Given the description of an element on the screen output the (x, y) to click on. 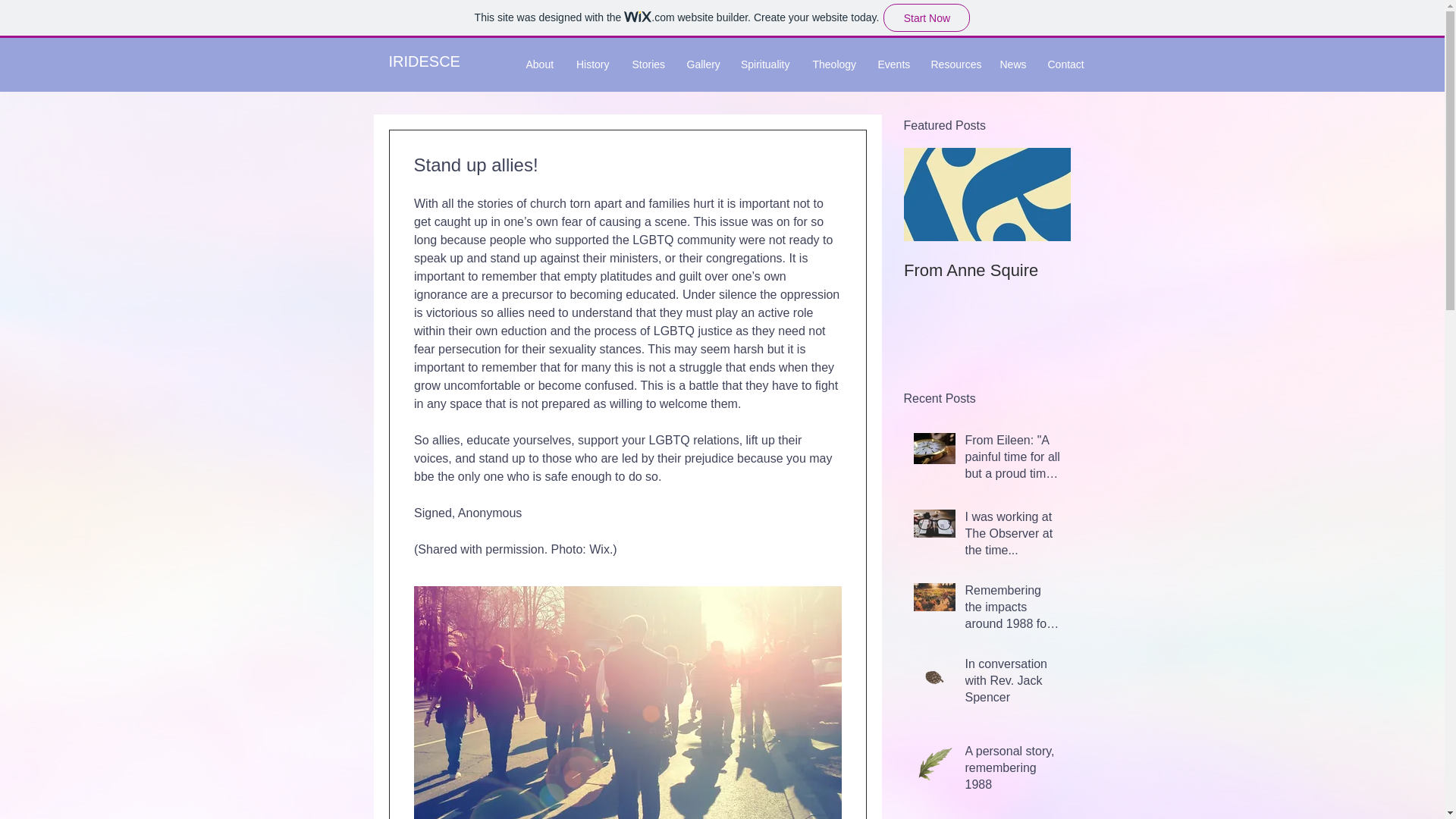
A personal story, remembering 1988 (1012, 771)
Stories (647, 63)
Theology (833, 63)
Gallery (701, 63)
I was working at The Observer at the time... (1012, 536)
IRIDESCE (424, 61)
News (1012, 63)
In conversation with Rev. Jack Spencer (1012, 684)
From Eileen: "A painful time for all but a proud time too" (1012, 460)
Events (892, 63)
Resources (953, 63)
History (592, 63)
Spirituality (764, 63)
About (538, 63)
